Given the description of an element on the screen output the (x, y) to click on. 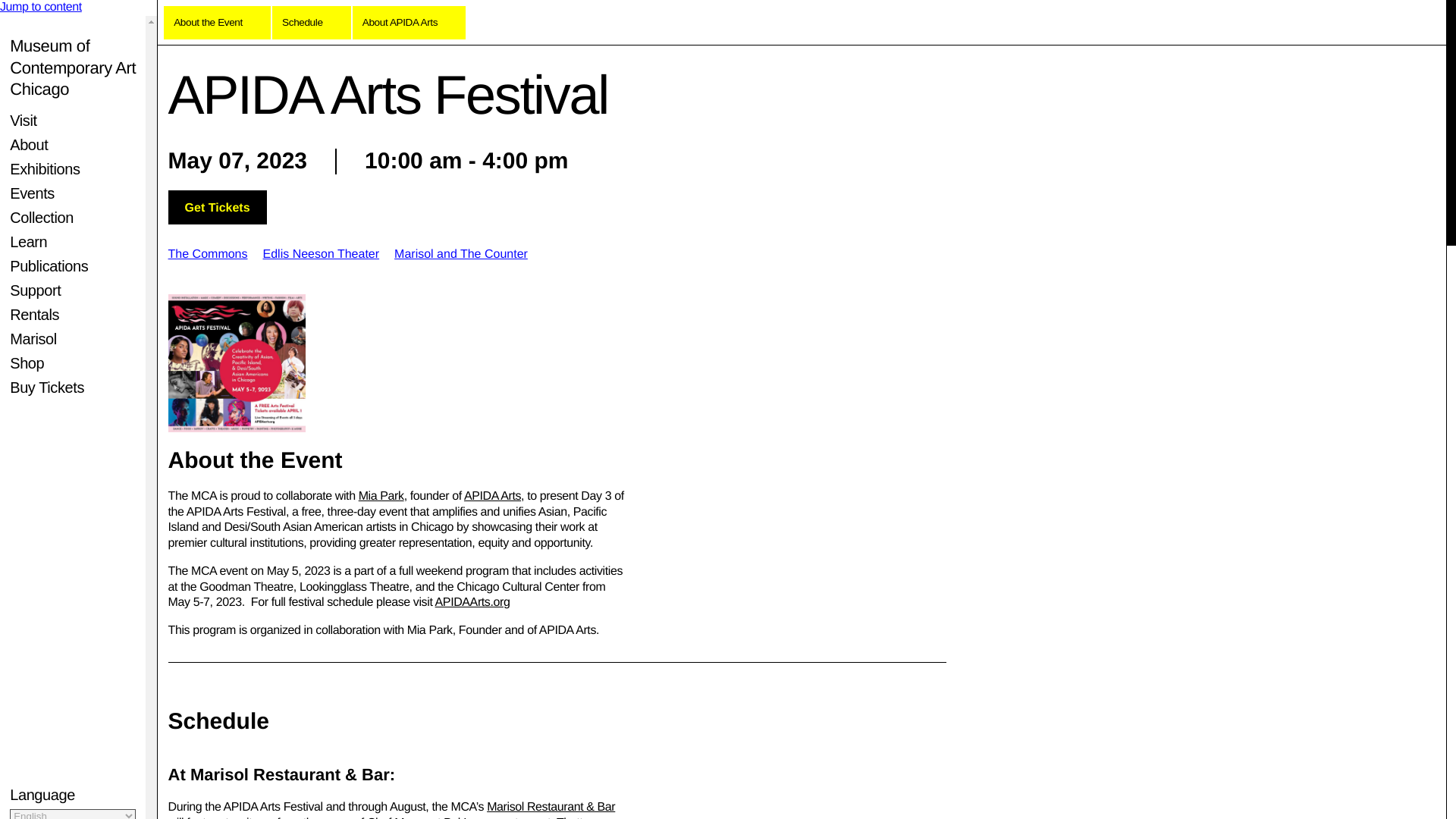
Schedule (311, 22)
Thattu (572, 817)
Marisol (33, 338)
Mia Park (381, 495)
Get Tickets (217, 207)
Exhibitions (45, 168)
APIDAArts.org (473, 602)
Publications (48, 265)
About the Event (216, 22)
Edlis Neeson Theater (320, 254)
